Given the description of an element on the screen output the (x, y) to click on. 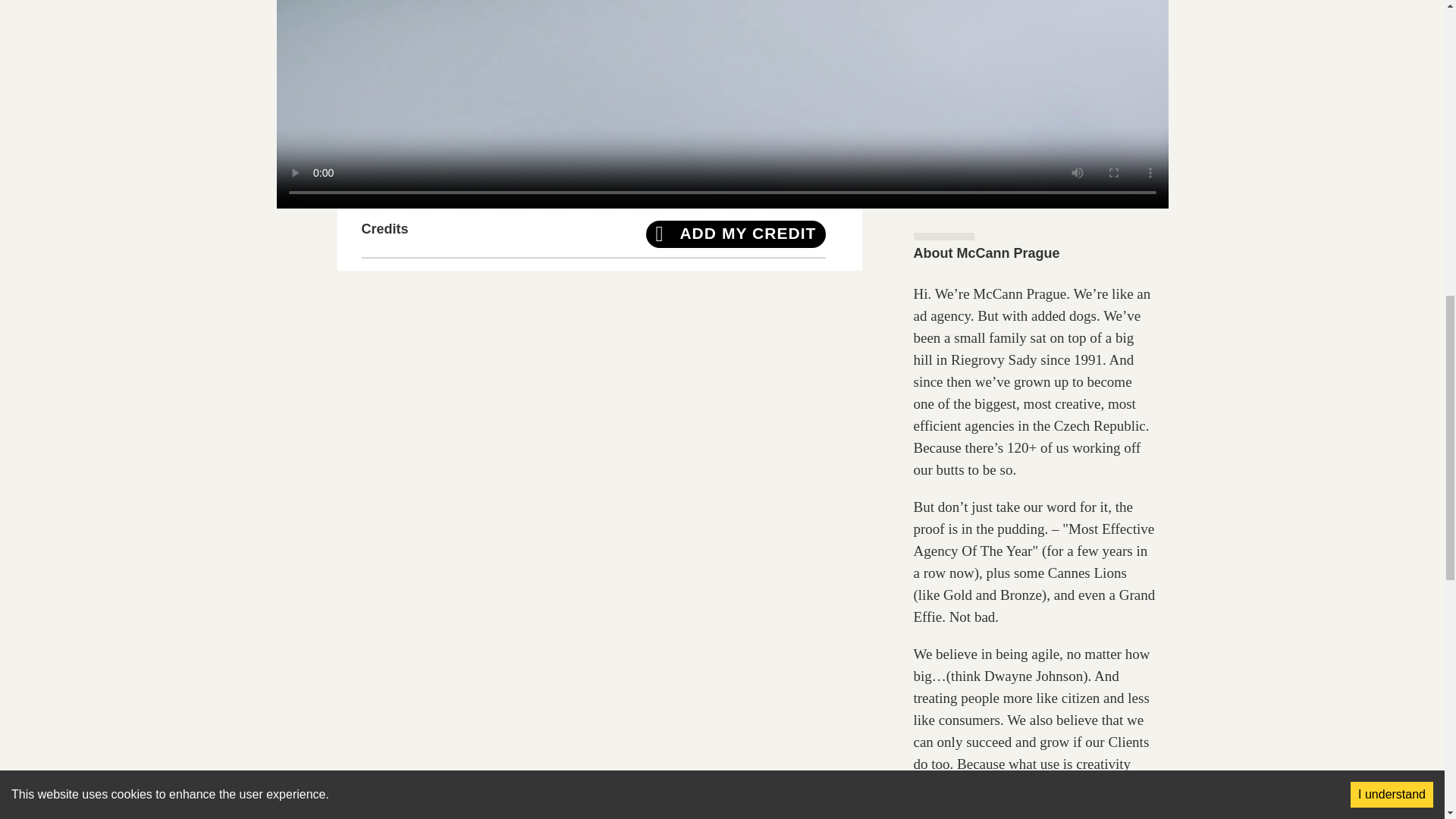
ADD MY CREDIT (735, 234)
